Given the description of an element on the screen output the (x, y) to click on. 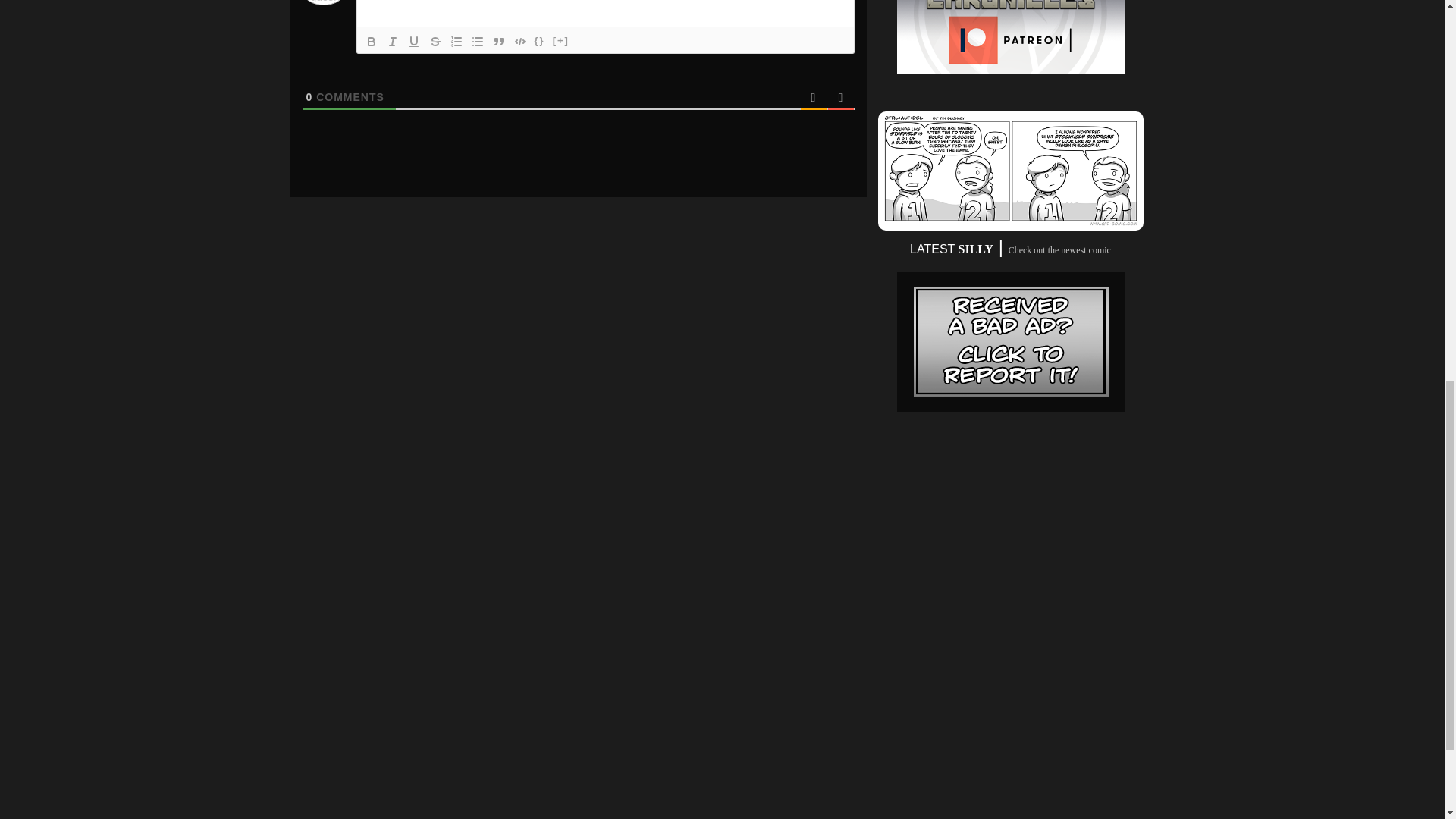
Italic (392, 41)
Code Block (520, 41)
Ordered List (456, 41)
Unordered List (477, 41)
Blockquote (498, 41)
Spoiler (560, 41)
Strike (435, 41)
Underline (414, 41)
Source Code (539, 41)
Bold (371, 41)
